Given the description of an element on the screen output the (x, y) to click on. 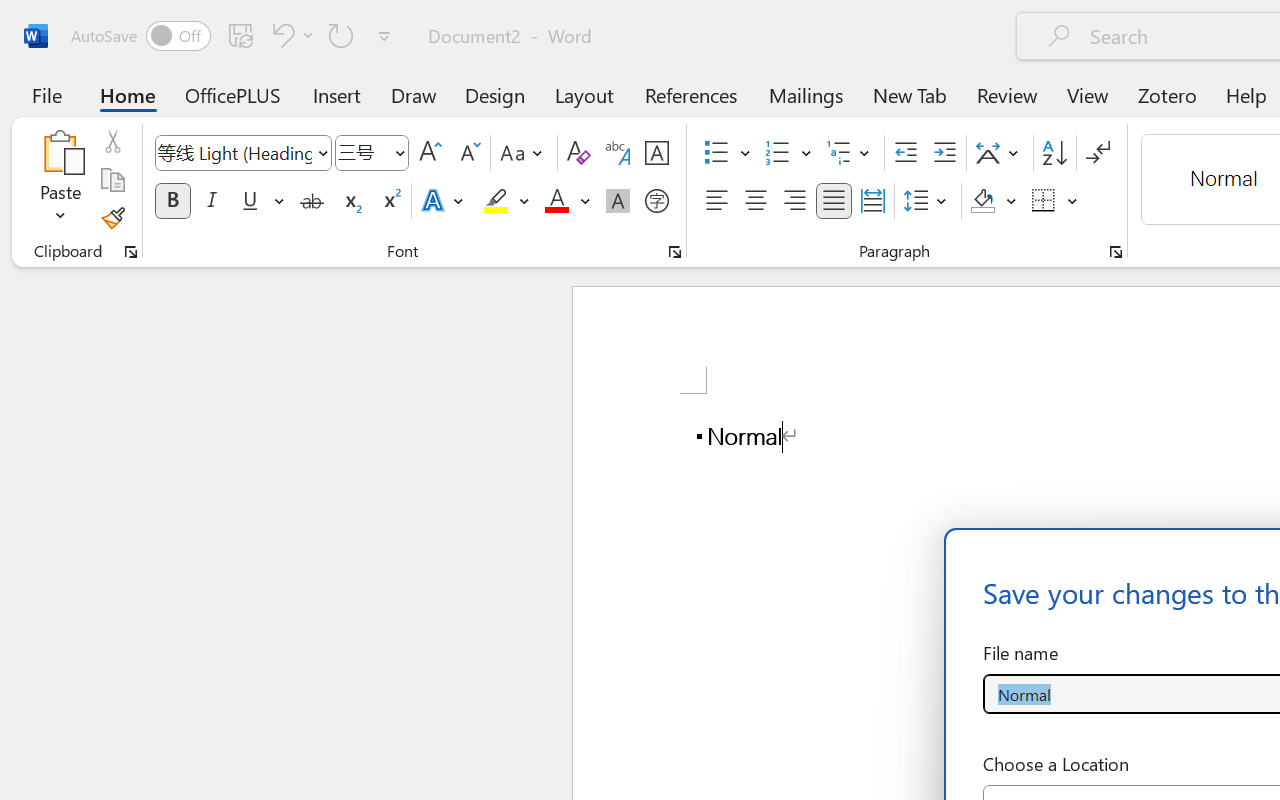
Line and Paragraph Spacing (927, 201)
Subscript (350, 201)
